Given the description of an element on the screen output the (x, y) to click on. 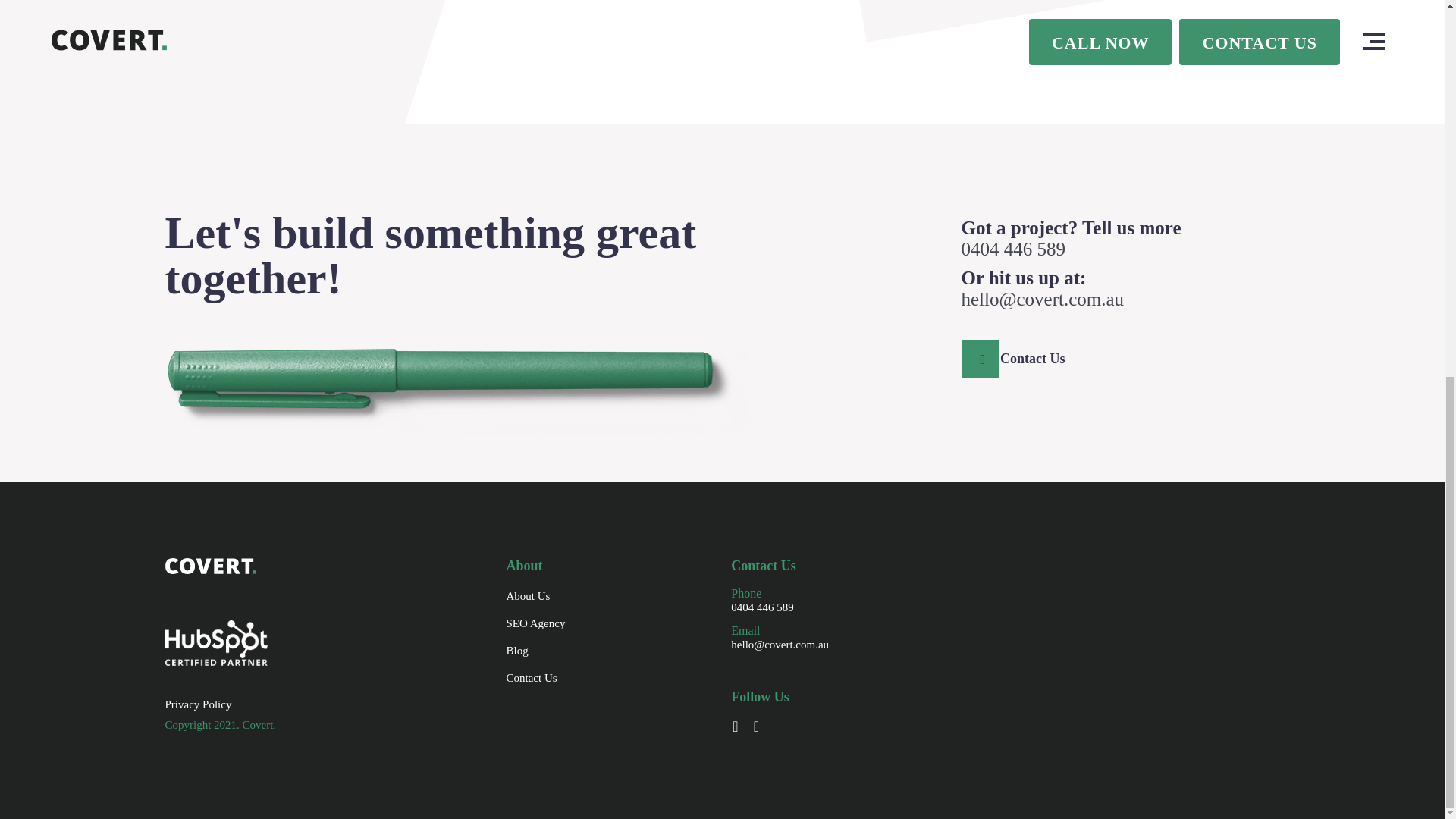
Blog (517, 650)
0404 446 589 (761, 607)
Contact Us (531, 678)
About Us (528, 596)
SEO Agency (536, 623)
Contact Us (1022, 358)
0404 446 589 (1012, 249)
Privacy Policy (198, 704)
